Given the description of an element on the screen output the (x, y) to click on. 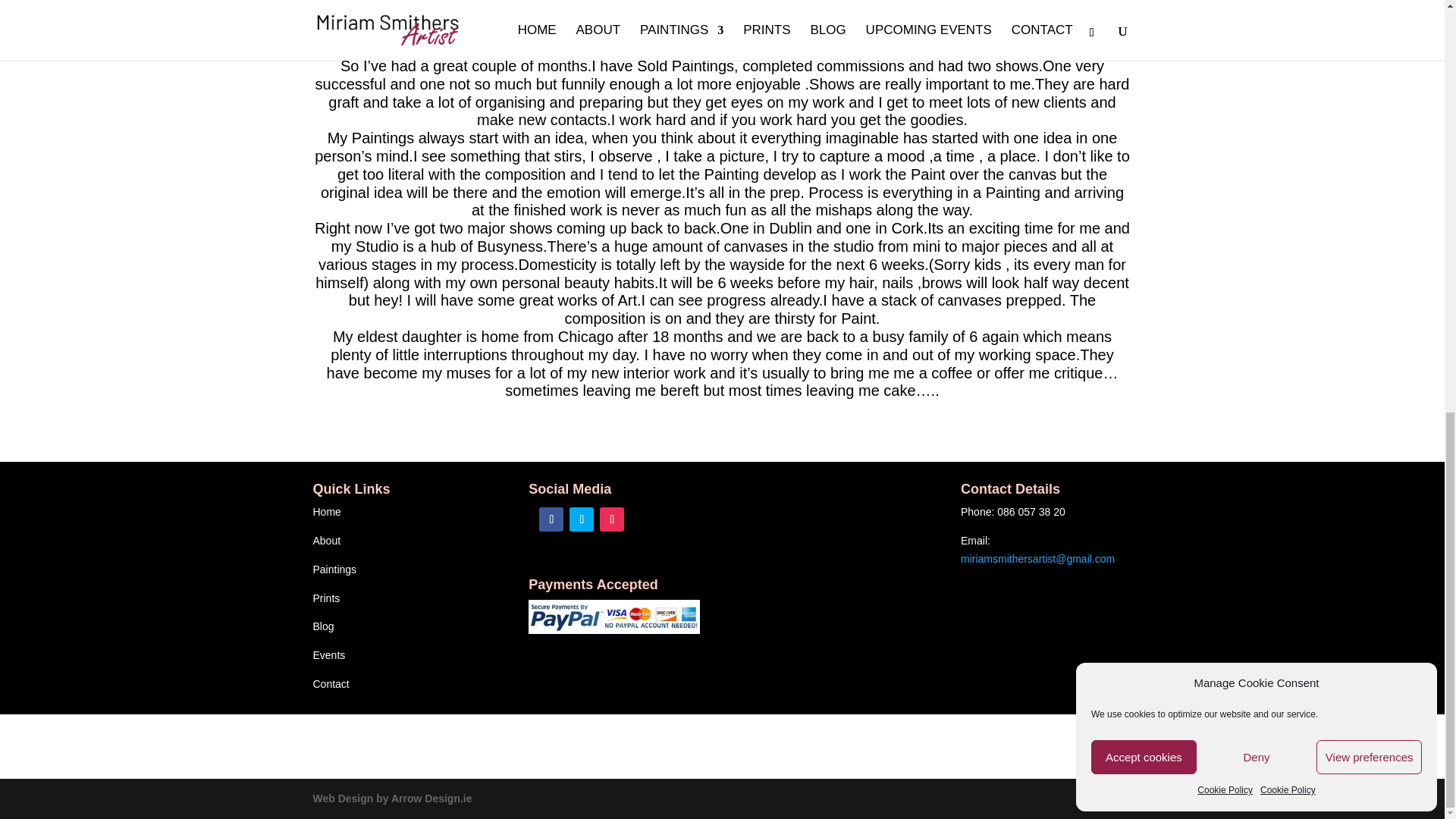
Follow on Instagram (611, 518)
Follow on Twitter (581, 518)
Follow on Facebook (550, 518)
About (326, 540)
Home (326, 511)
